Given the description of an element on the screen output the (x, y) to click on. 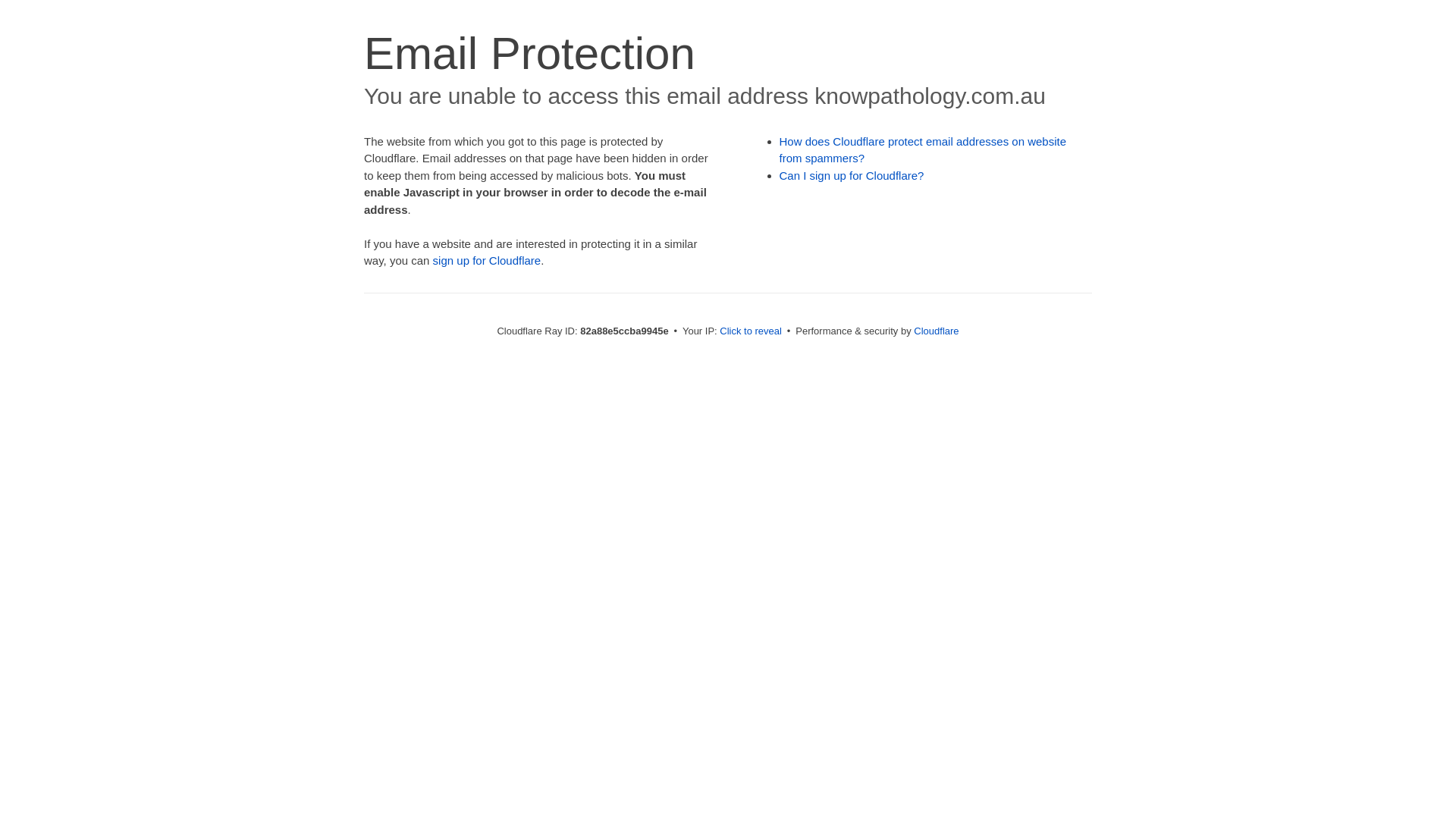
Click to reveal Element type: text (750, 330)
Cloudflare Element type: text (935, 330)
sign up for Cloudflare Element type: text (487, 260)
Can I sign up for Cloudflare? Element type: text (851, 175)
